Given the description of an element on the screen output the (x, y) to click on. 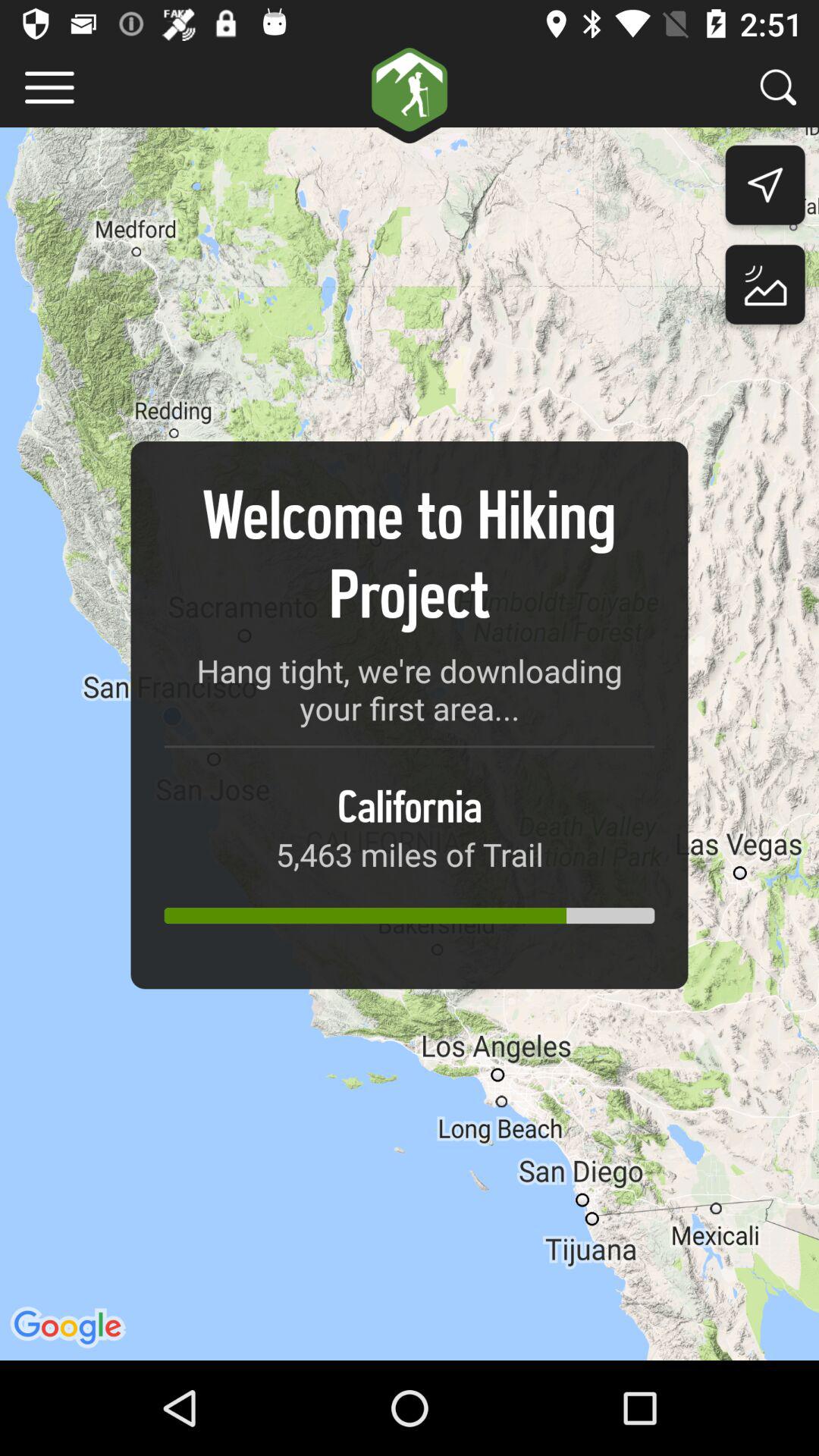
view map (765, 288)
